Given the description of an element on the screen output the (x, y) to click on. 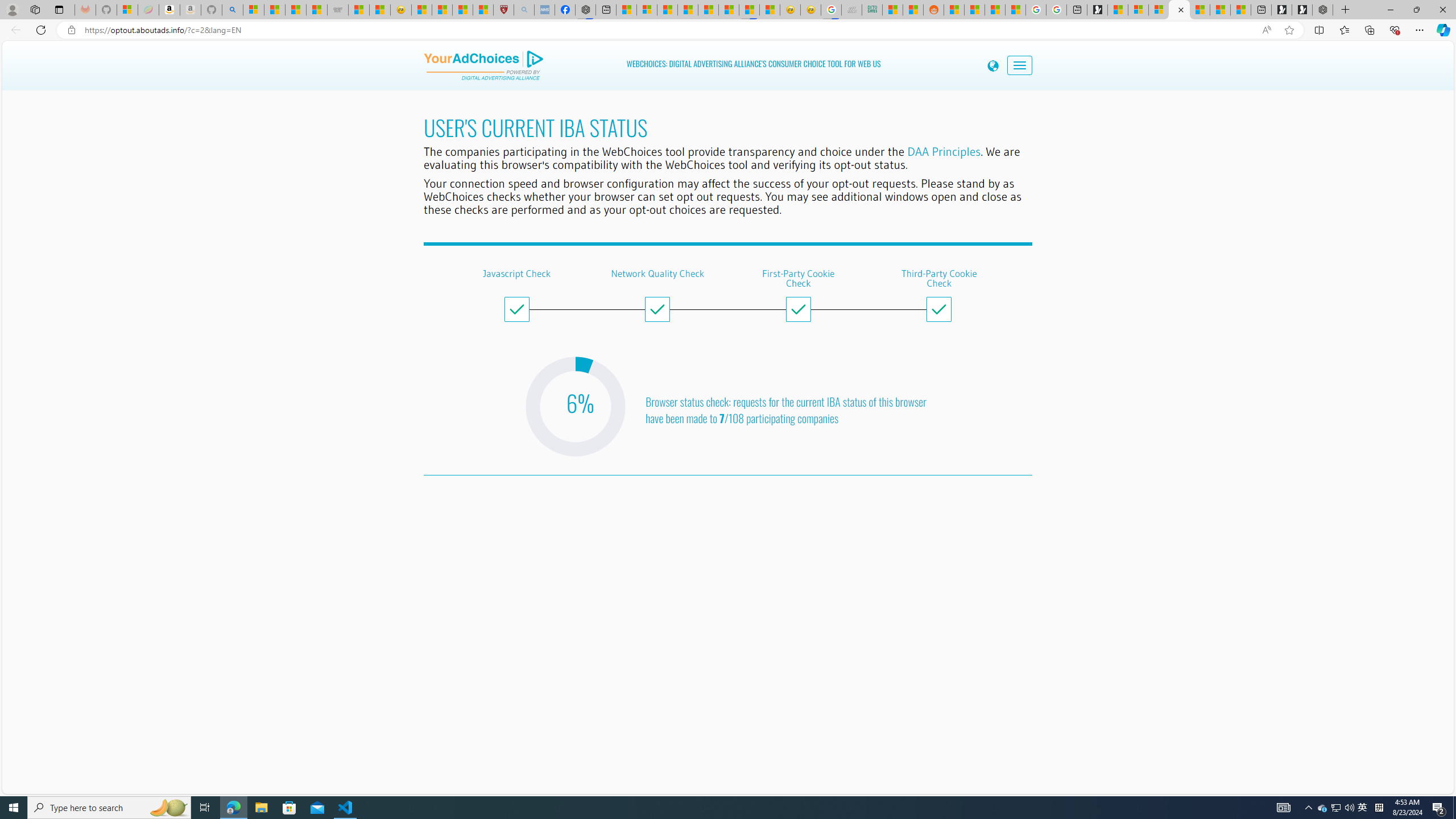
Toggle navigation (1019, 65)
R******* | Trusted Community Engagement and Contributions (954, 9)
Play Free Online Games | Games from Microsoft Start (1302, 9)
